Given the description of an element on the screen output the (x, y) to click on. 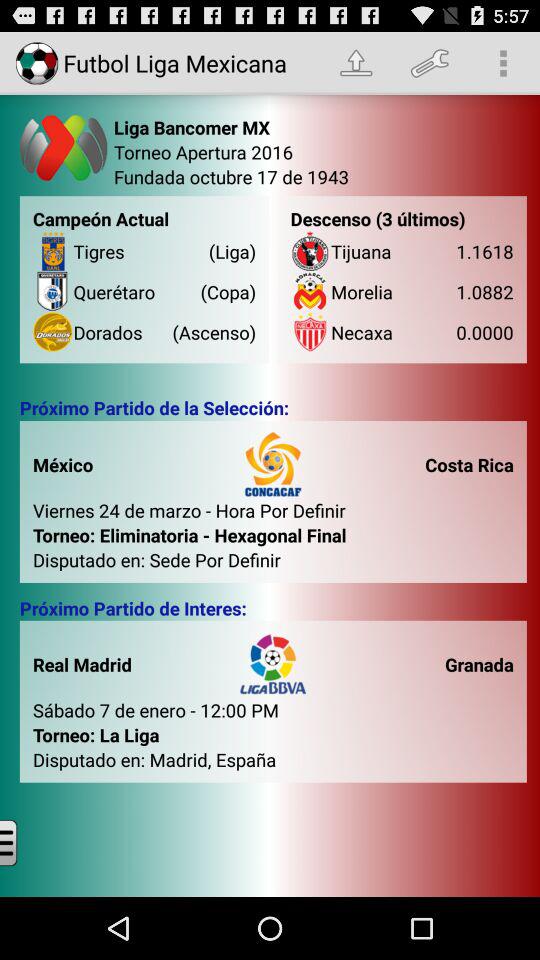
menu (24, 842)
